Given the description of an element on the screen output the (x, y) to click on. 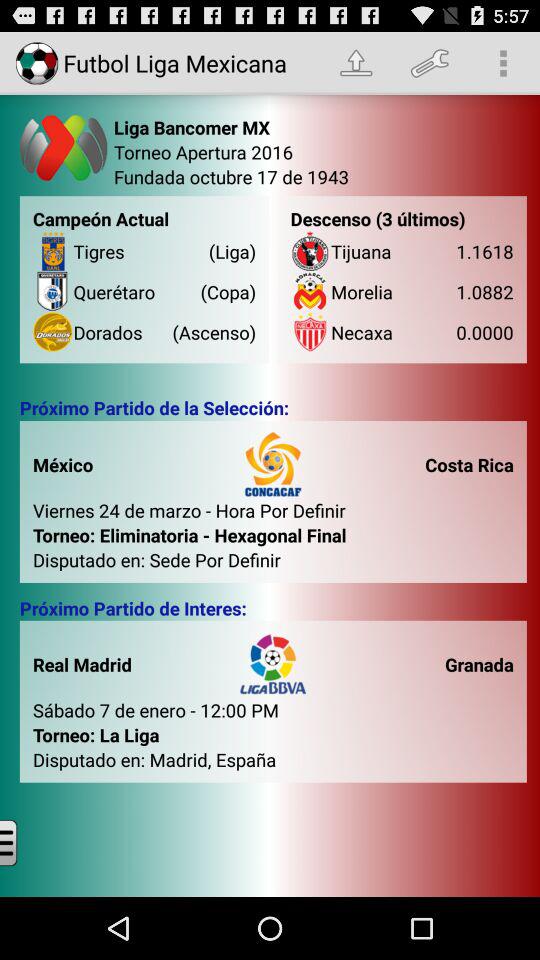
menu (24, 842)
